Given the description of an element on the screen output the (x, y) to click on. 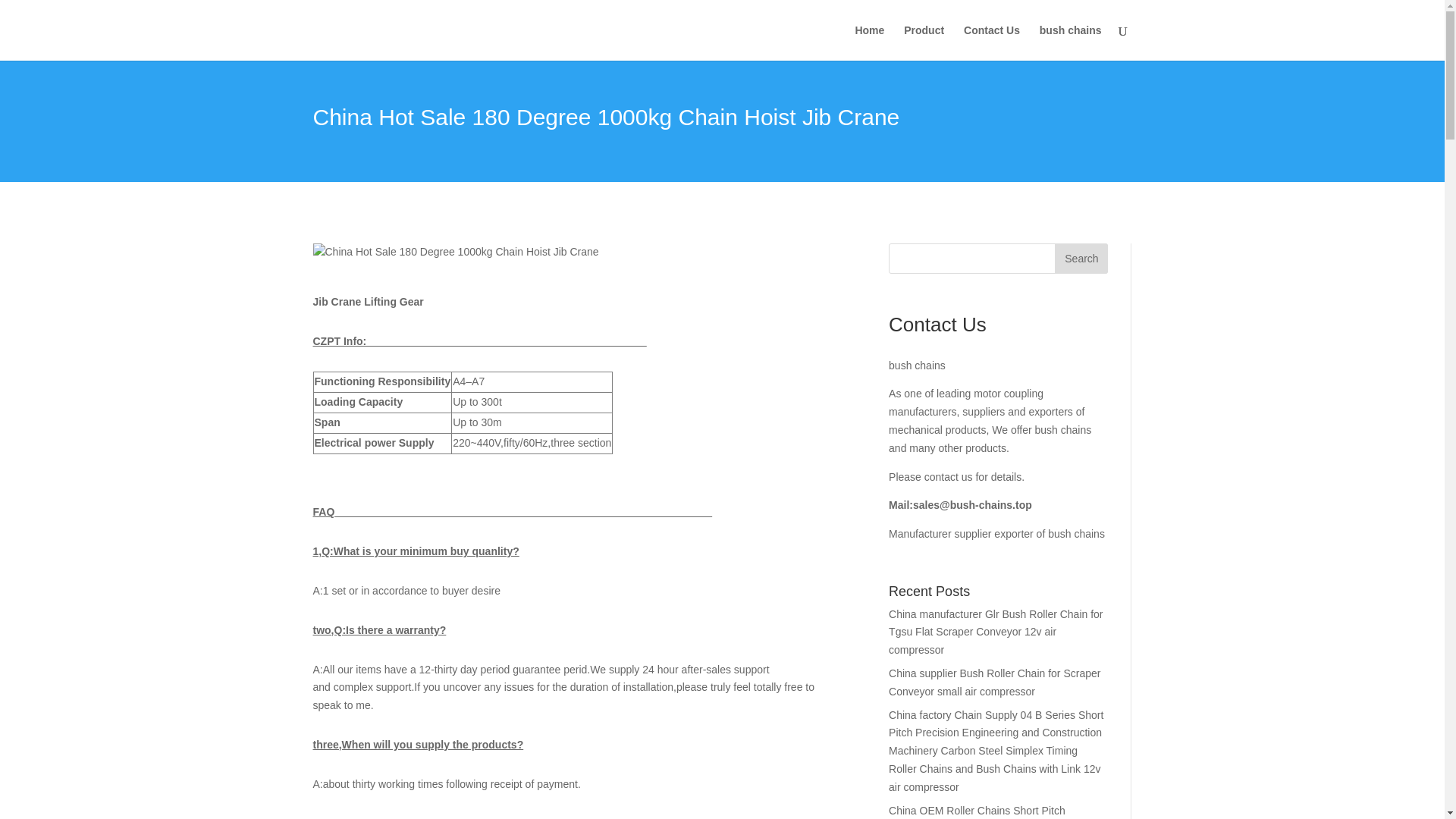
Search (1081, 258)
China Hot Sale 180 Degree 1000kg Chain Hoist Jib Crane (455, 252)
Contact Us (991, 42)
Search (1081, 258)
bush chains (1070, 42)
Product (923, 42)
